Given the description of an element on the screen output the (x, y) to click on. 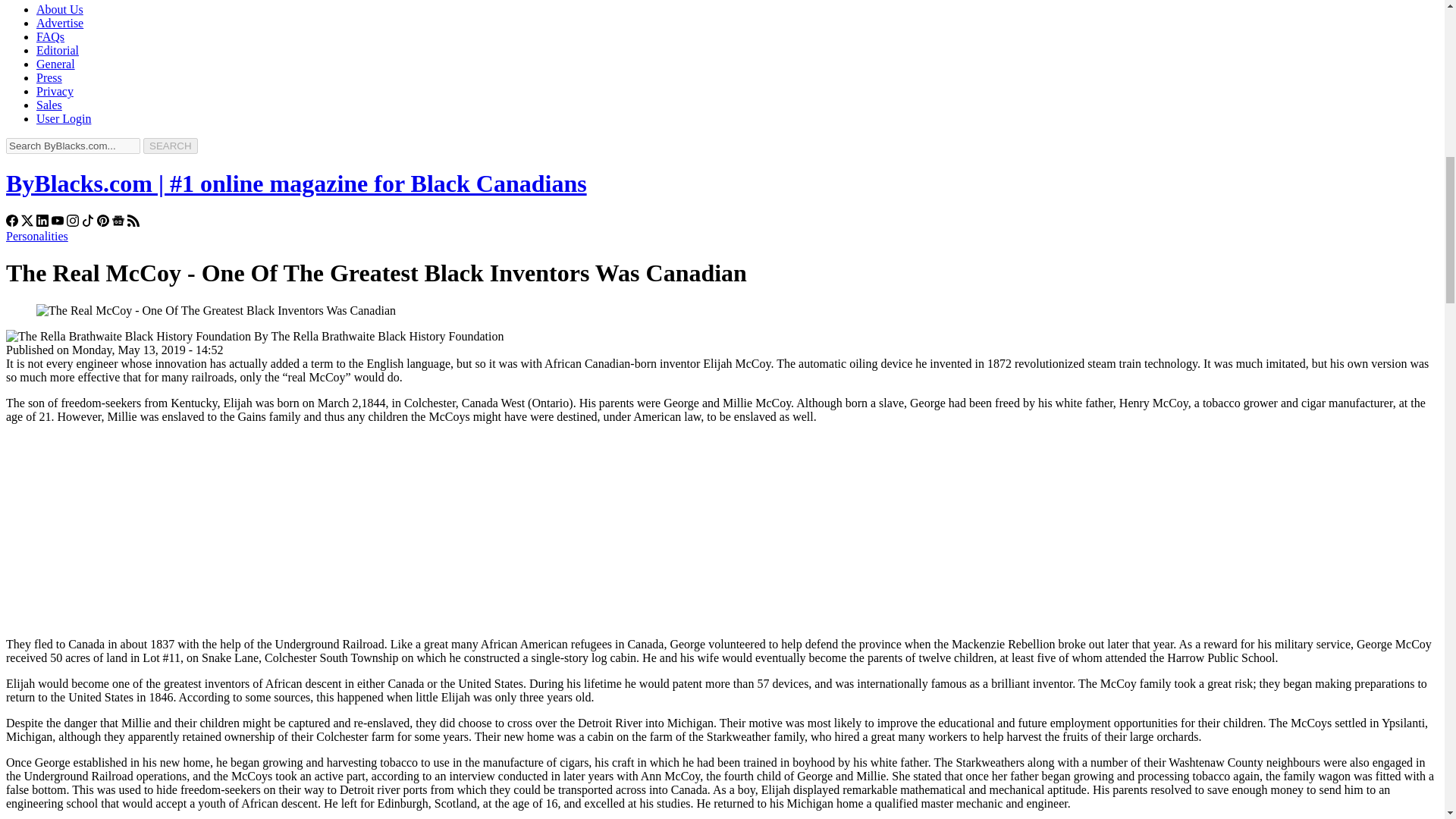
SEARCH (170, 145)
ByBlacks.com on LinkedIn (42, 222)
Search ByBlacks.com... (72, 145)
ByBlacks.com (295, 183)
ByBlacks.com on Pinterest (103, 222)
ByBlacks.com on YouTube (57, 222)
ByBlacks.com on Twitter (27, 222)
ByBlacks.com on Facebook (11, 222)
ByBlacks.com on Google News (117, 222)
ByBlacks.com on Instagram (72, 222)
